Given the description of an element on the screen output the (x, y) to click on. 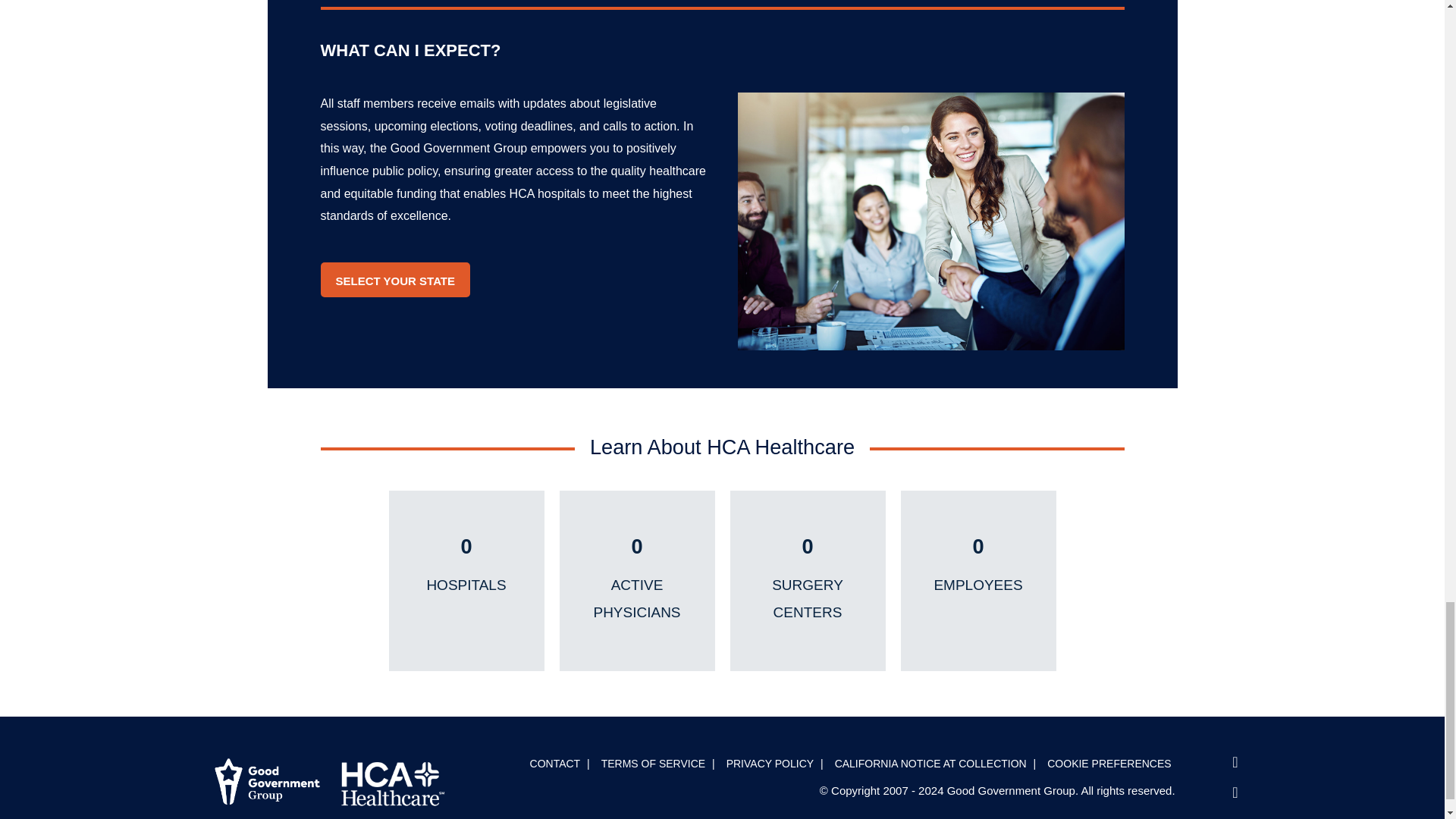
SELECT YOUR STATE (395, 280)
how-join (930, 221)
